Given the description of an element on the screen output the (x, y) to click on. 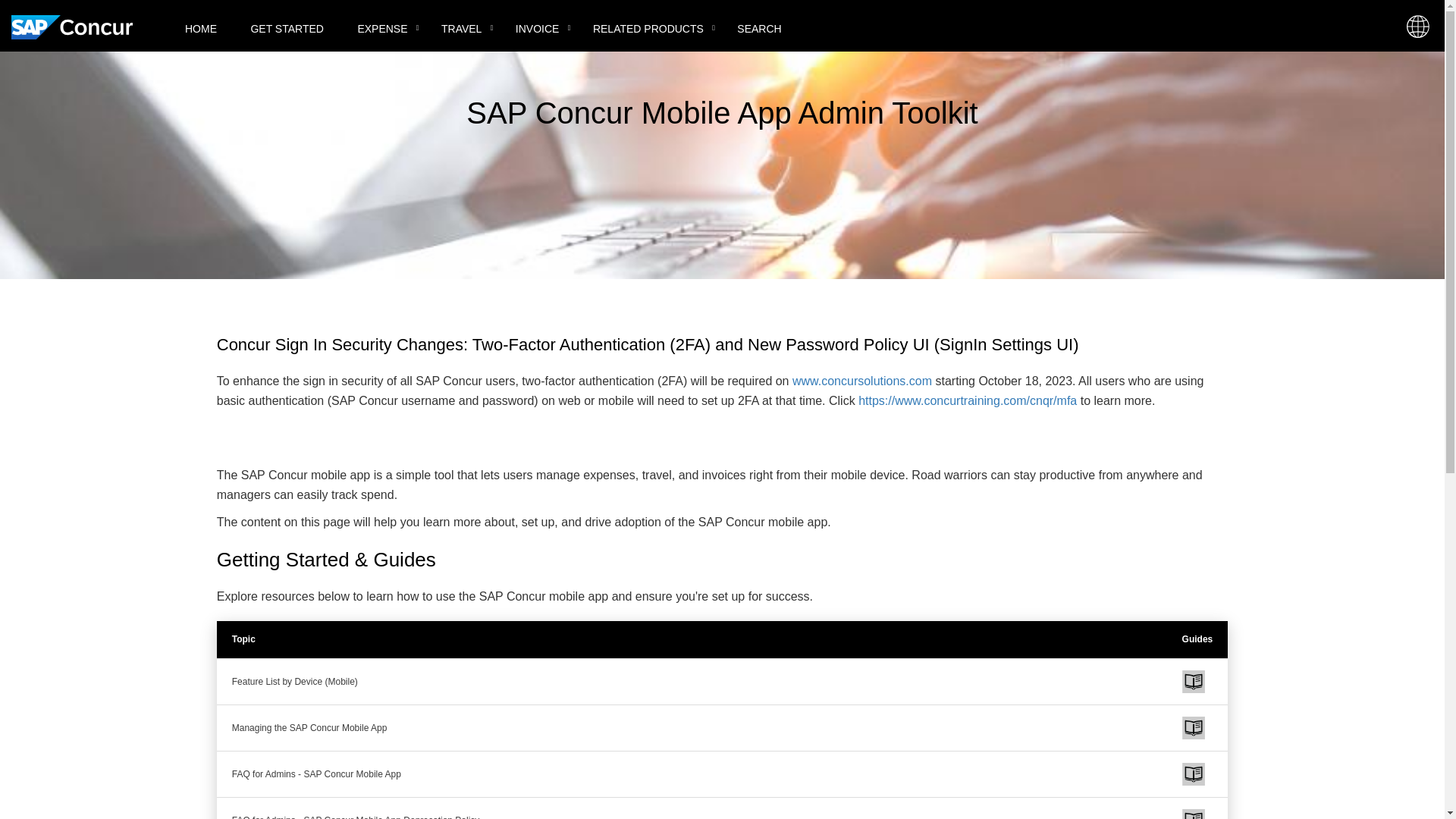
SEARCH (759, 31)
GET STARTED (285, 31)
HOME (200, 31)
